Given the description of an element on the screen output the (x, y) to click on. 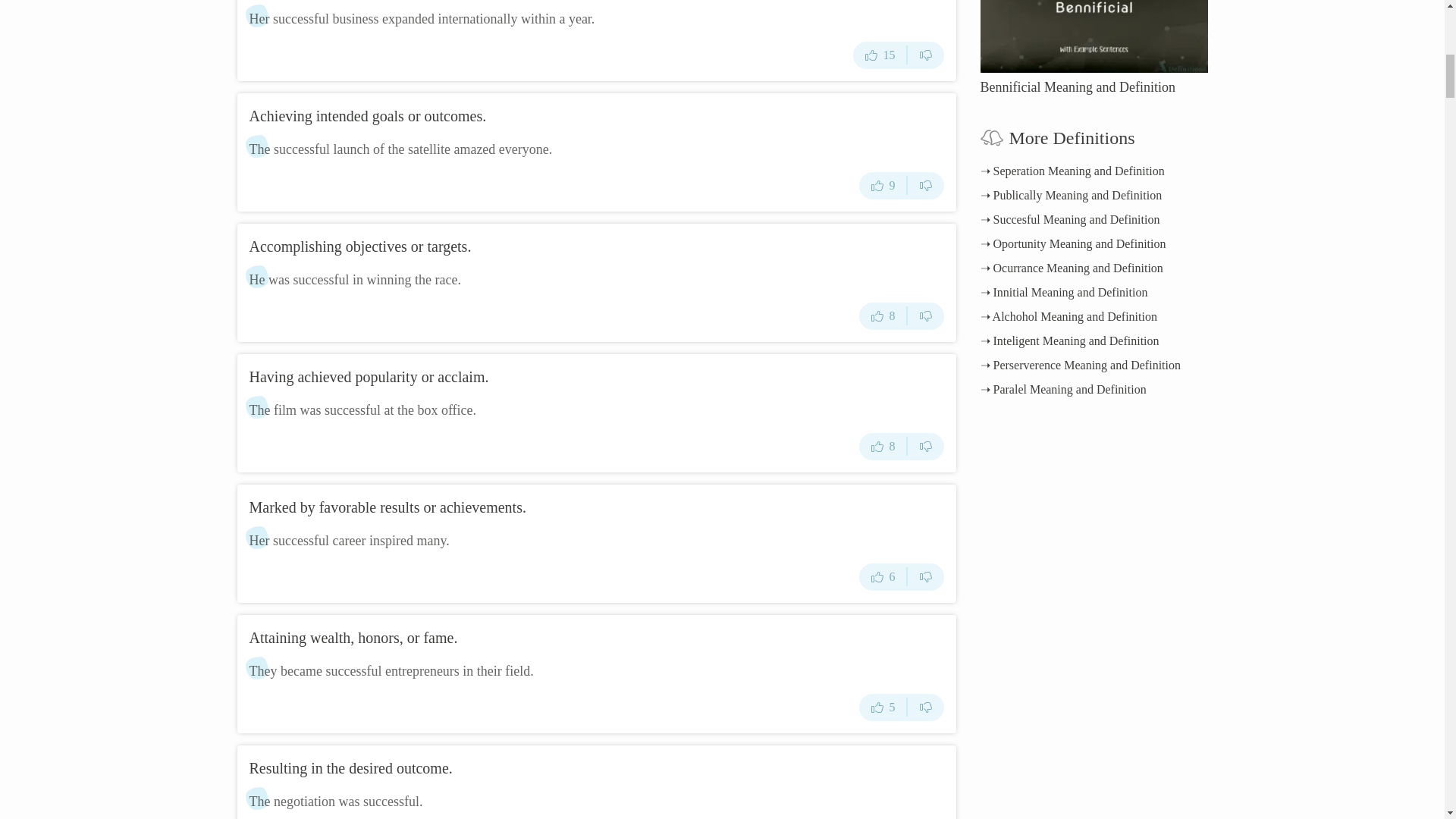
15 (879, 53)
5 (883, 706)
6 (883, 575)
8 (883, 315)
9 (883, 185)
8 (883, 445)
